Given the description of an element on the screen output the (x, y) to click on. 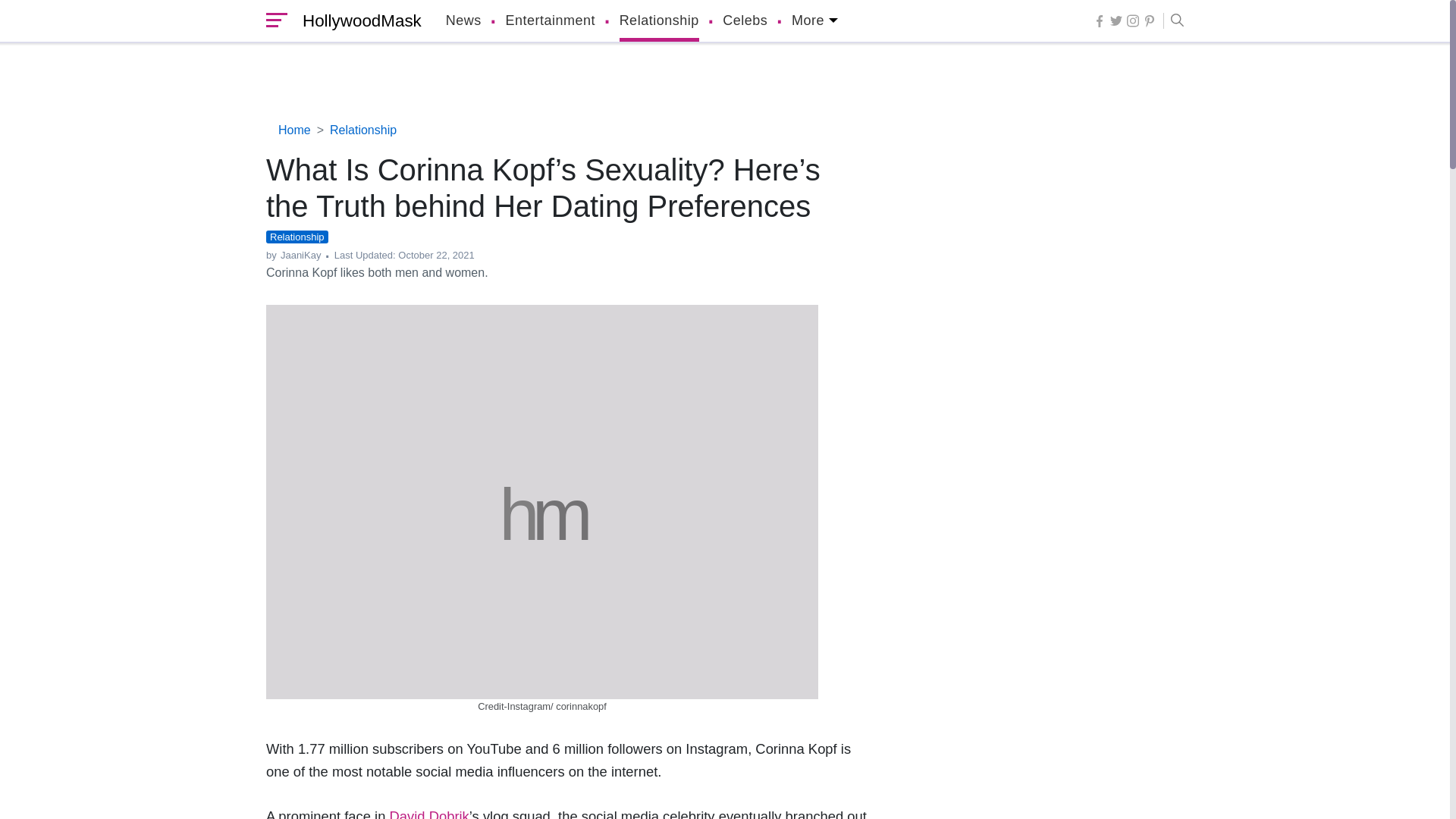
Celebs (744, 20)
HollywoodMask (358, 21)
Follow Us On twitter (1115, 20)
Relationship (659, 20)
more (815, 20)
More (815, 20)
Relationship (659, 20)
Follow Us On instagram (1132, 20)
Celebs (744, 20)
Entertainment (550, 20)
Search (1173, 20)
HollywoodMask (358, 21)
Entertainment (550, 20)
